Given the description of an element on the screen output the (x, y) to click on. 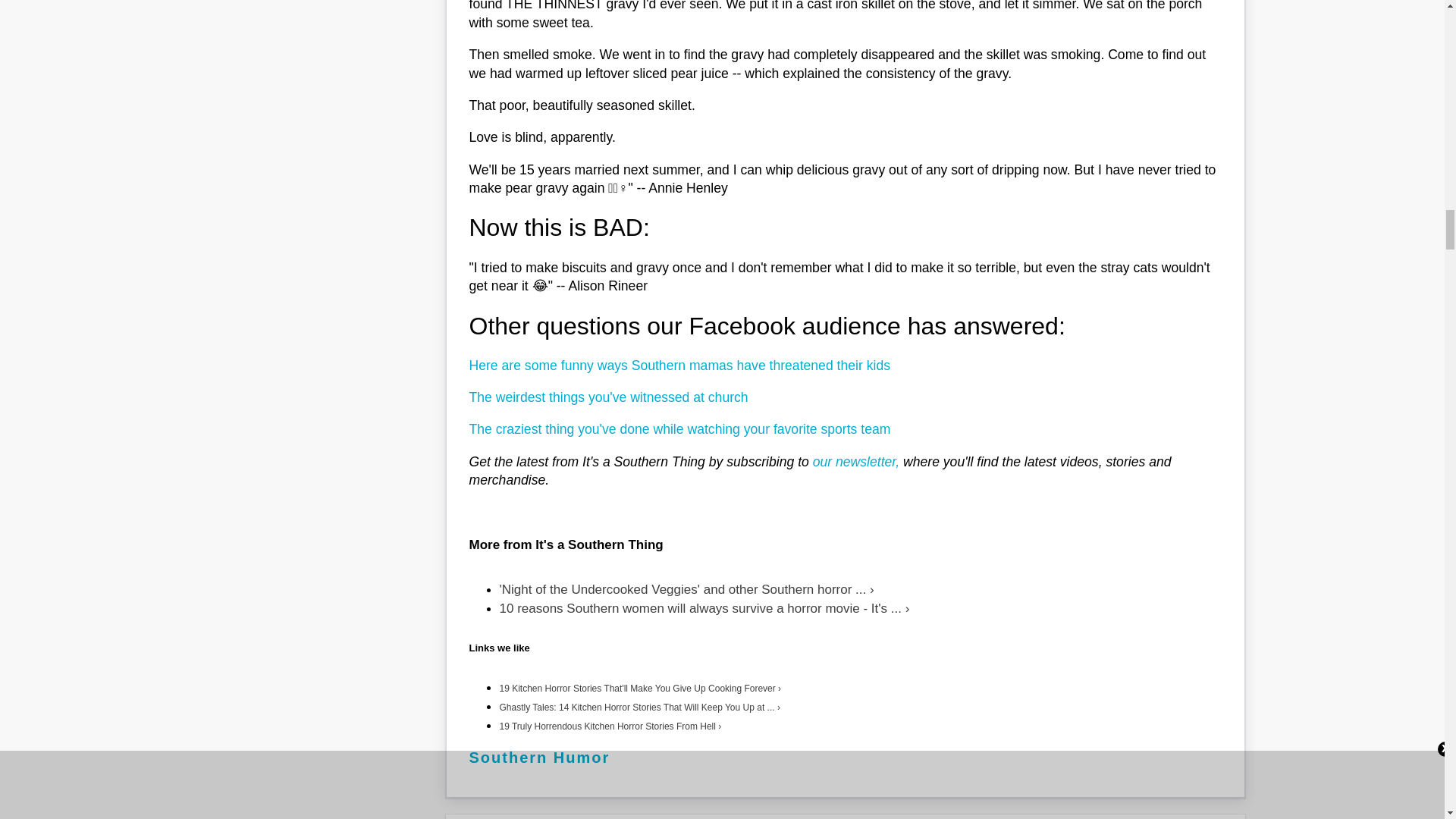
The weirdest things you've witnessed at church (608, 396)
